Given the description of an element on the screen output the (x, y) to click on. 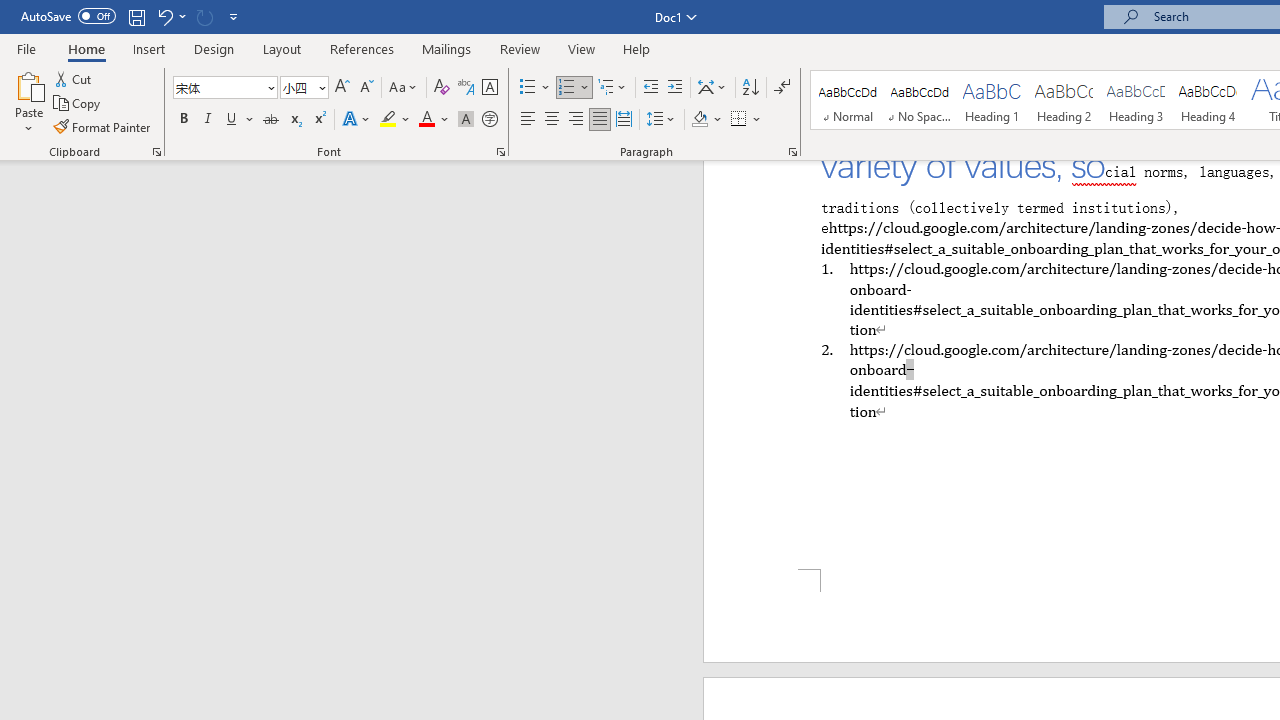
Enclose Characters... (489, 119)
Multilevel List (613, 87)
Line and Paragraph Spacing (661, 119)
Italic (207, 119)
Phonetic Guide... (465, 87)
Heading 4 (1208, 100)
Increase Indent (675, 87)
Shrink Font (365, 87)
